Given the description of an element on the screen output the (x, y) to click on. 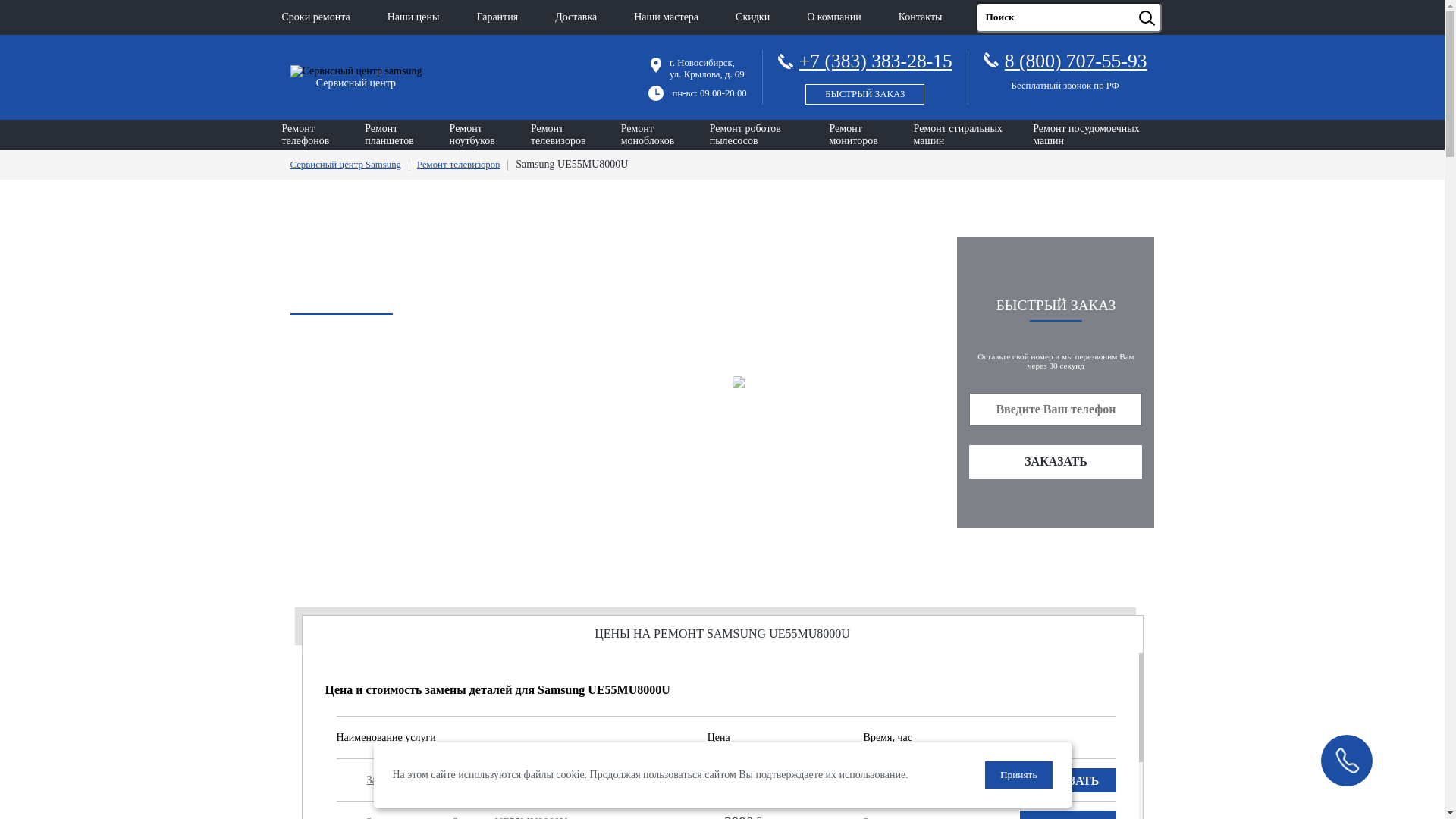
8 (800) 707-55-93 Element type: text (1075, 61)
+7 (383) 383-28-15 Element type: text (865, 74)
sisea.search Element type: text (1165, 2)
